Given the description of an element on the screen output the (x, y) to click on. 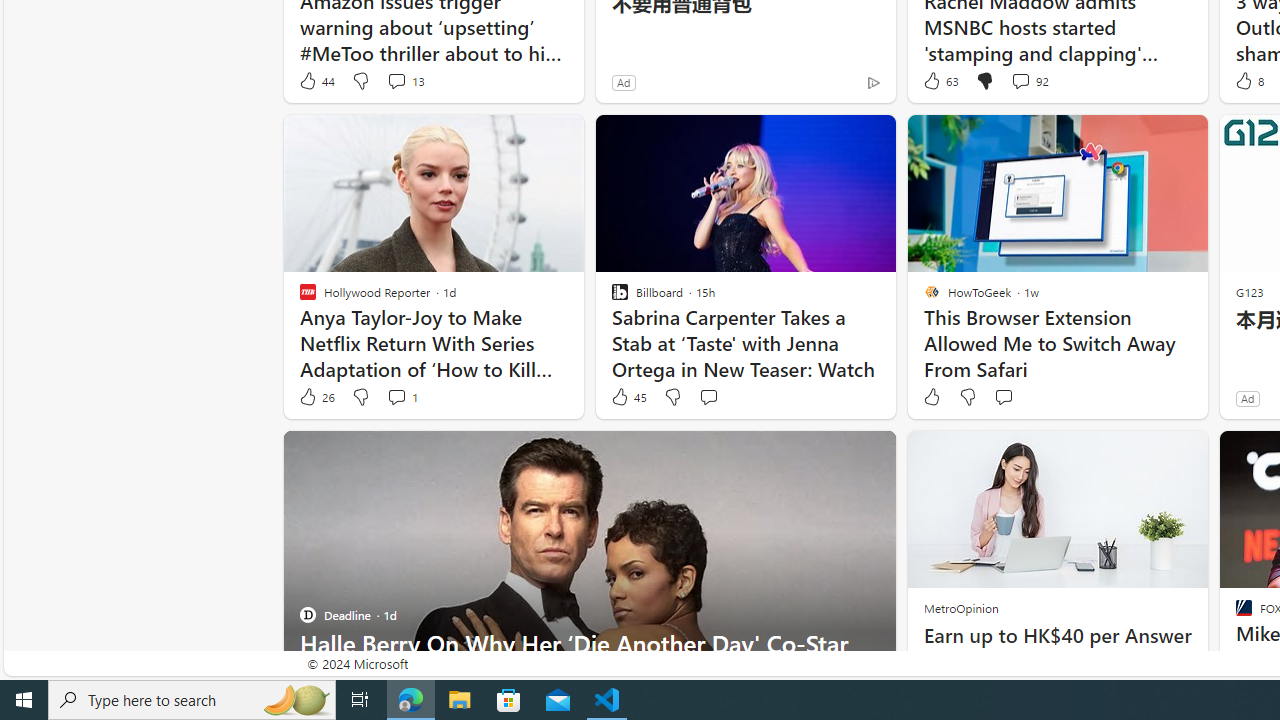
View comments 13 Comment (404, 80)
26 Like (316, 397)
